Given the description of an element on the screen output the (x, y) to click on. 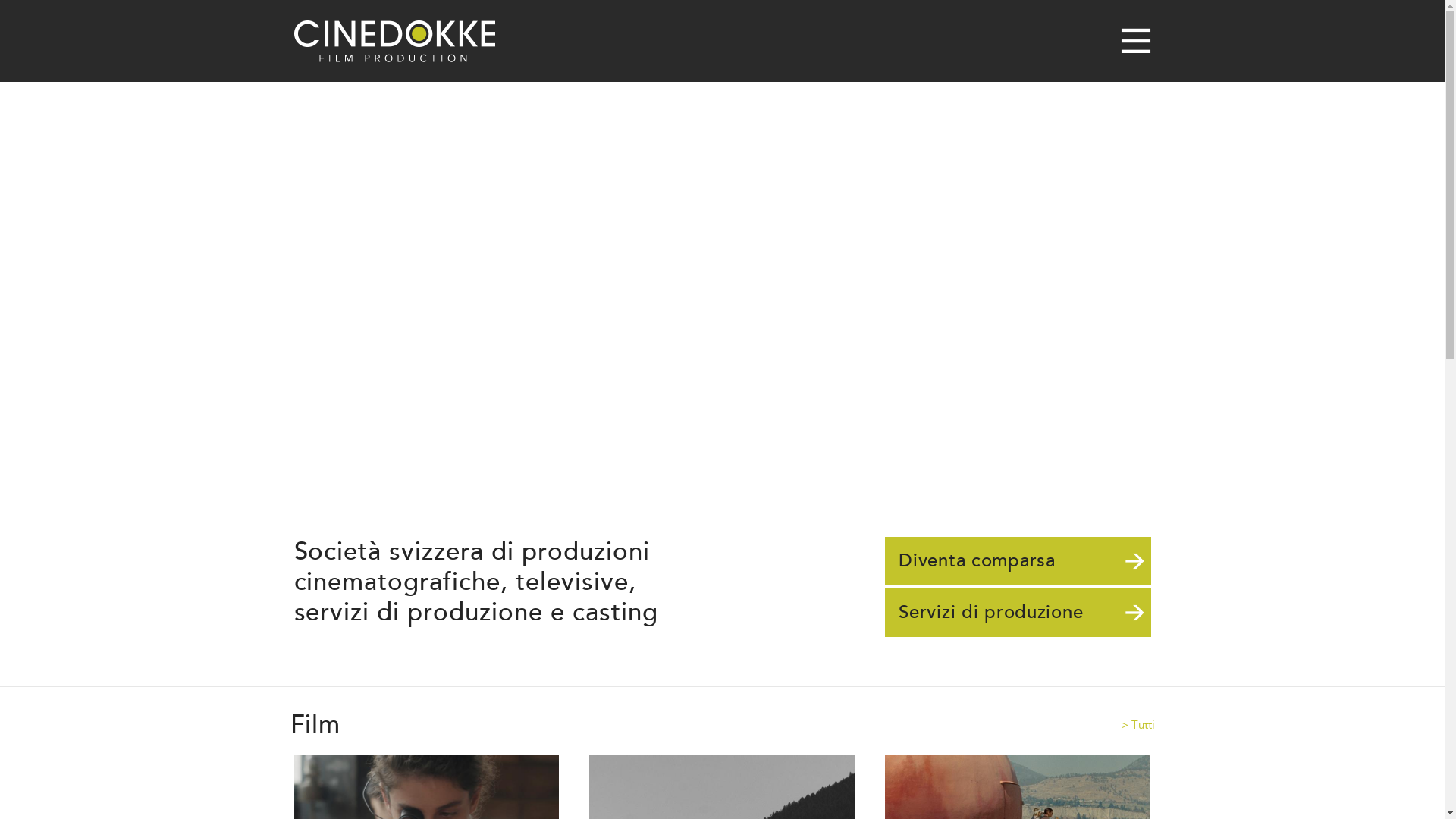
Servizi di produzione Element type: text (1017, 612)
> Tutti Element type: text (1137, 724)
Diventa comparsa Element type: text (1017, 560)
